Given the description of an element on the screen output the (x, y) to click on. 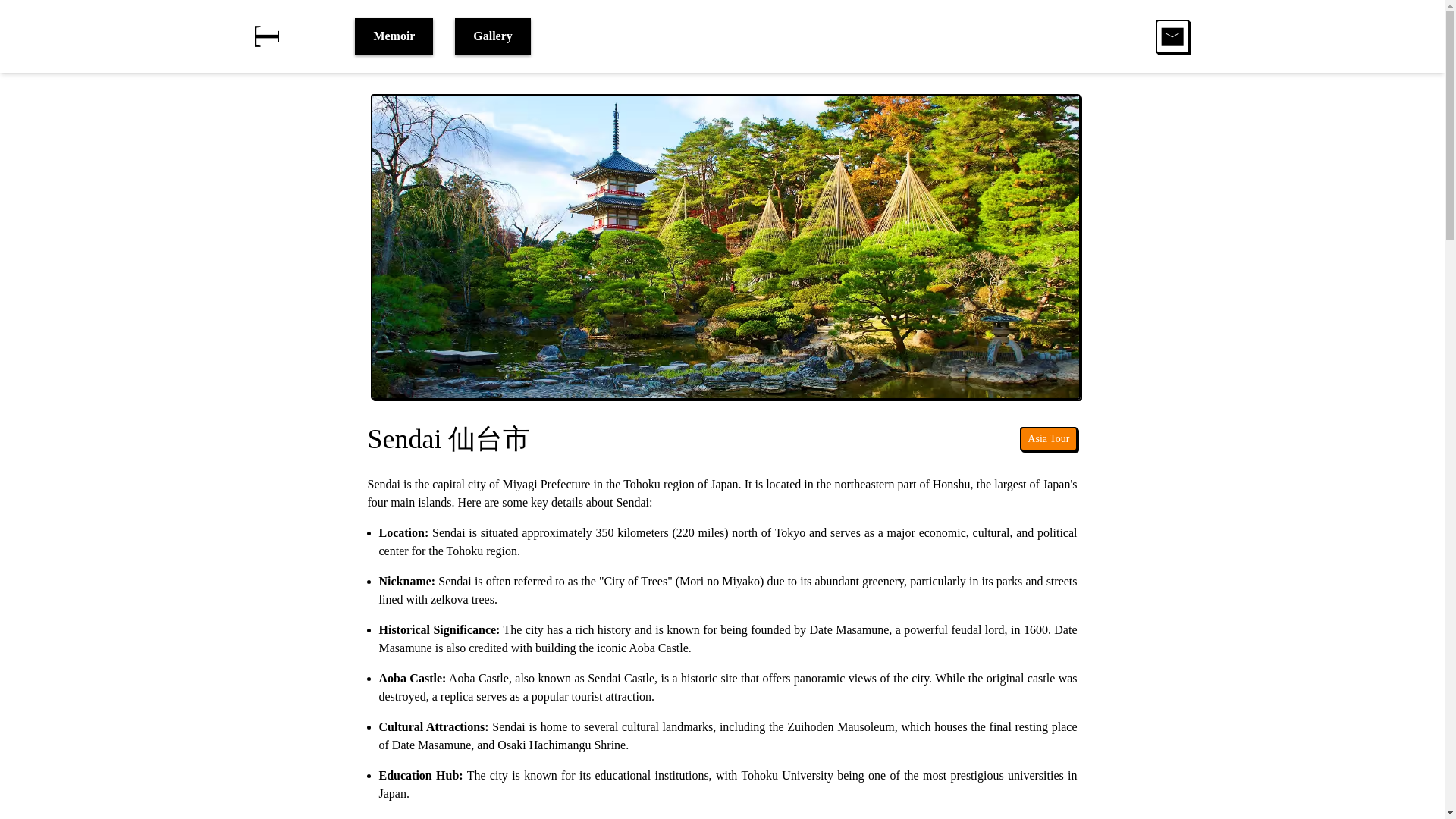
Gallery (492, 36)
Memoir (393, 36)
Asia Tour (1048, 438)
